Given the description of an element on the screen output the (x, y) to click on. 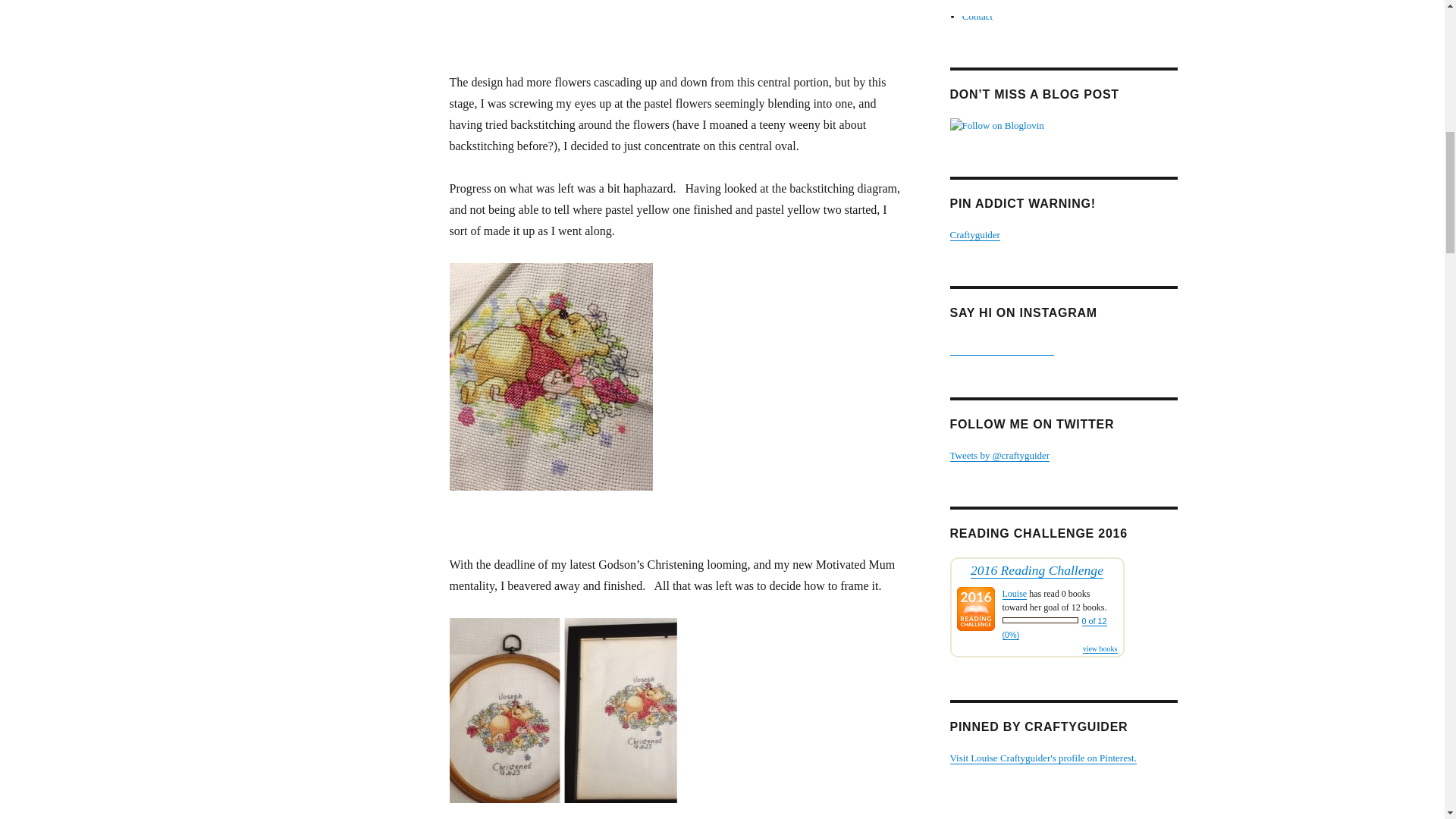
Follow CraftyGuider Blog on Bloglovin (1062, 125)
